Given the description of an element on the screen output the (x, y) to click on. 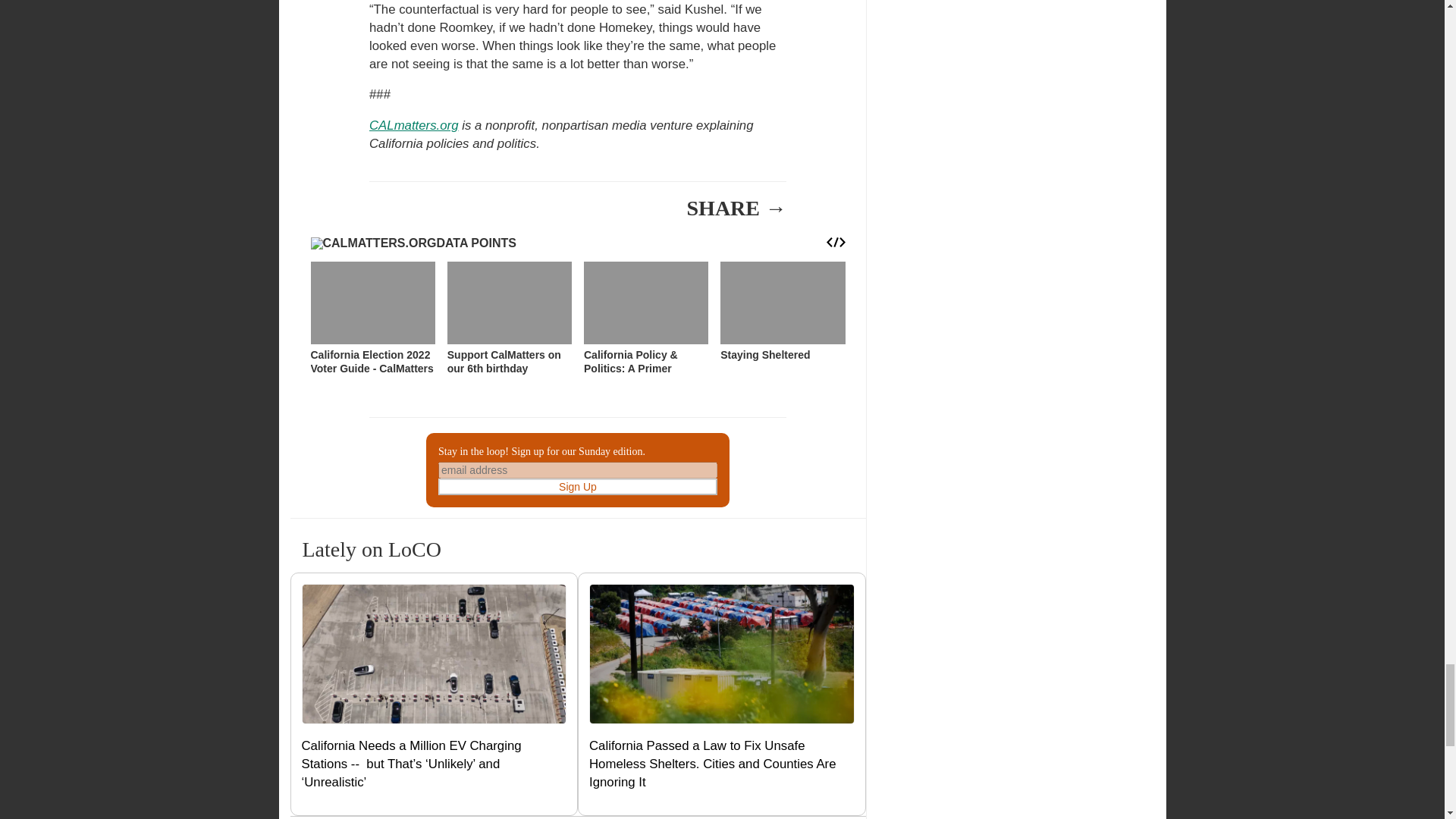
Sign Up (577, 486)
